Given the description of an element on the screen output the (x, y) to click on. 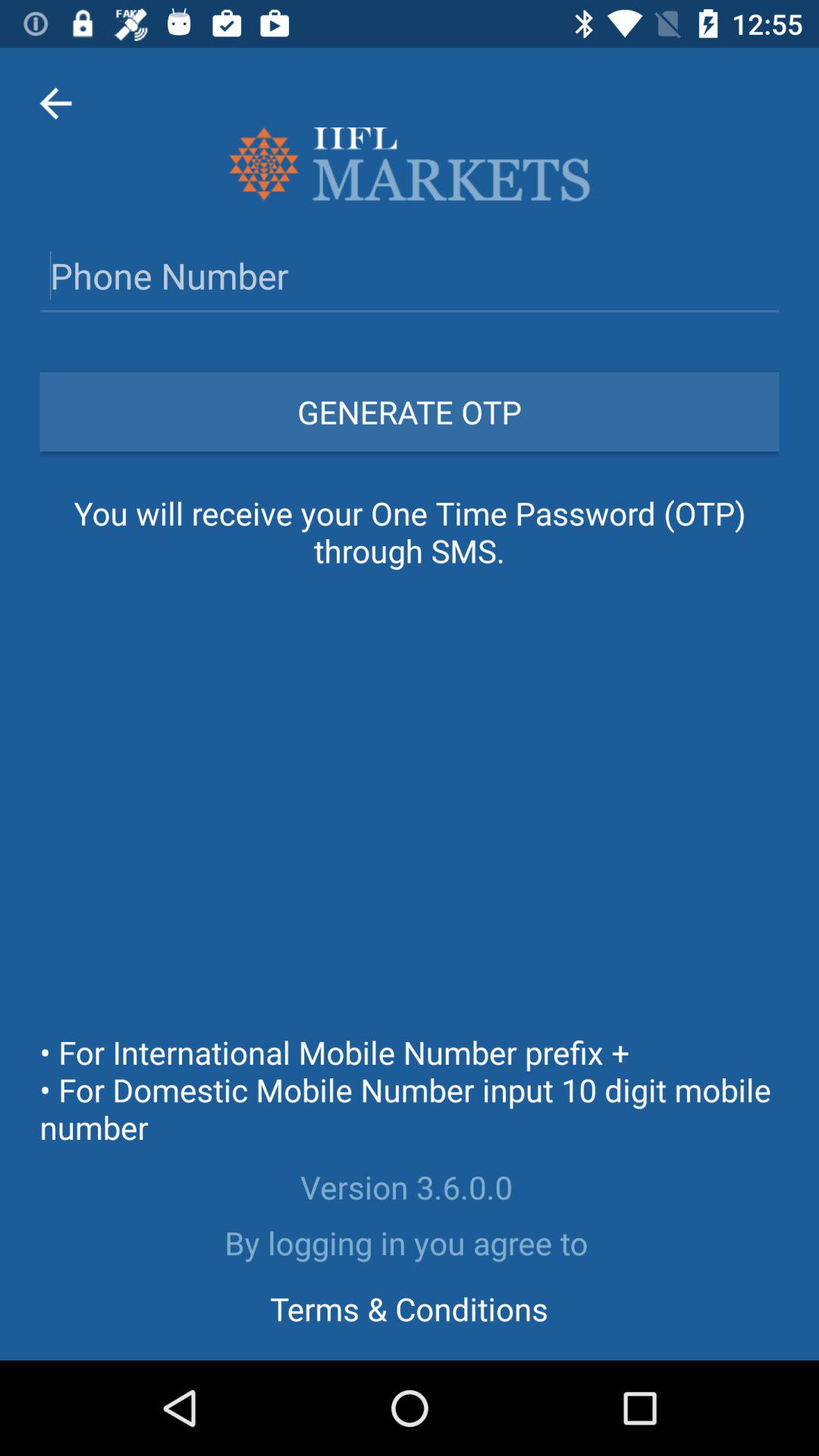
click the terms & conditions item (409, 1308)
